Given the description of an element on the screen output the (x, y) to click on. 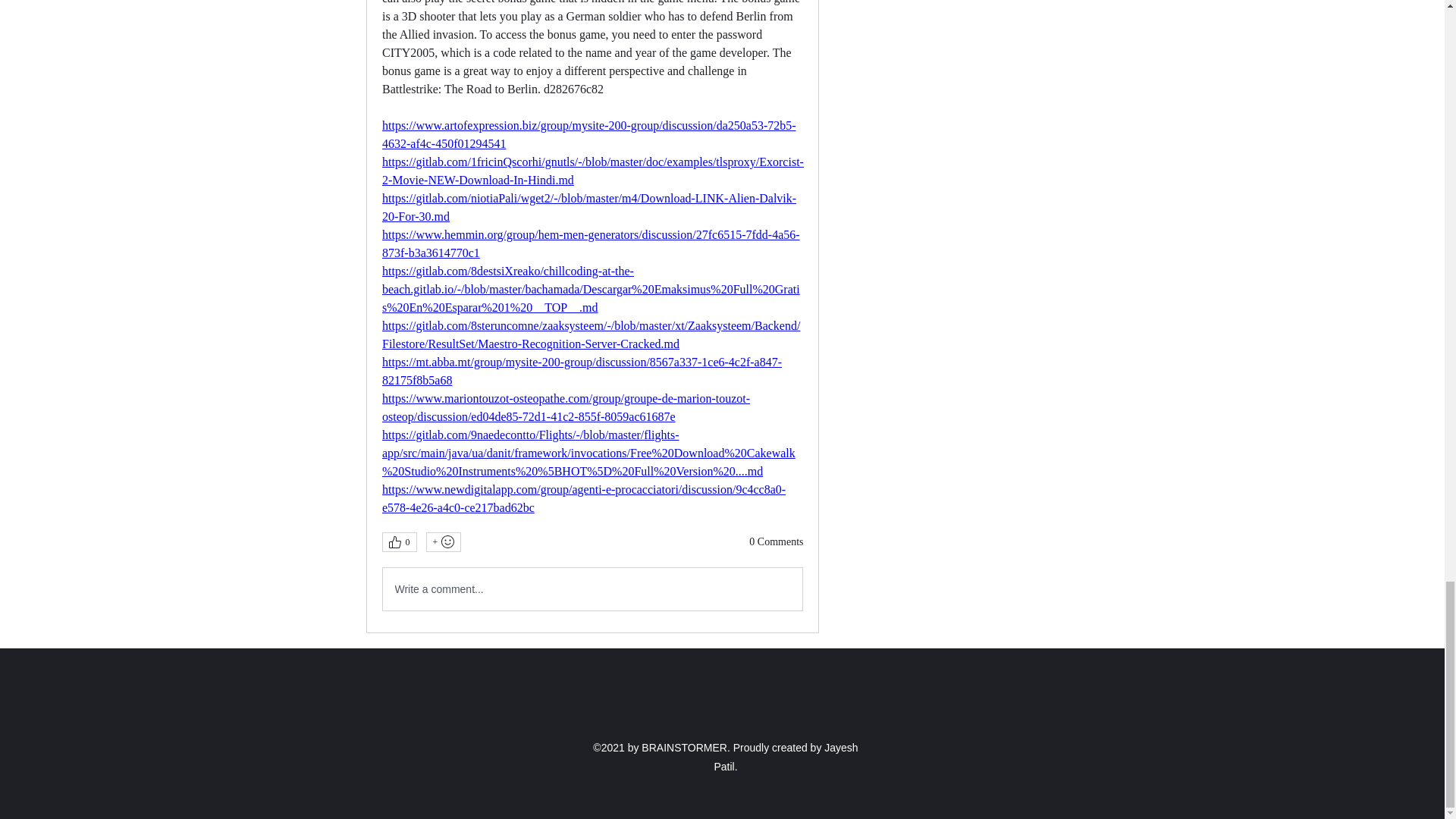
Write a comment... (591, 589)
0 Comments (776, 541)
